Given the description of an element on the screen output the (x, y) to click on. 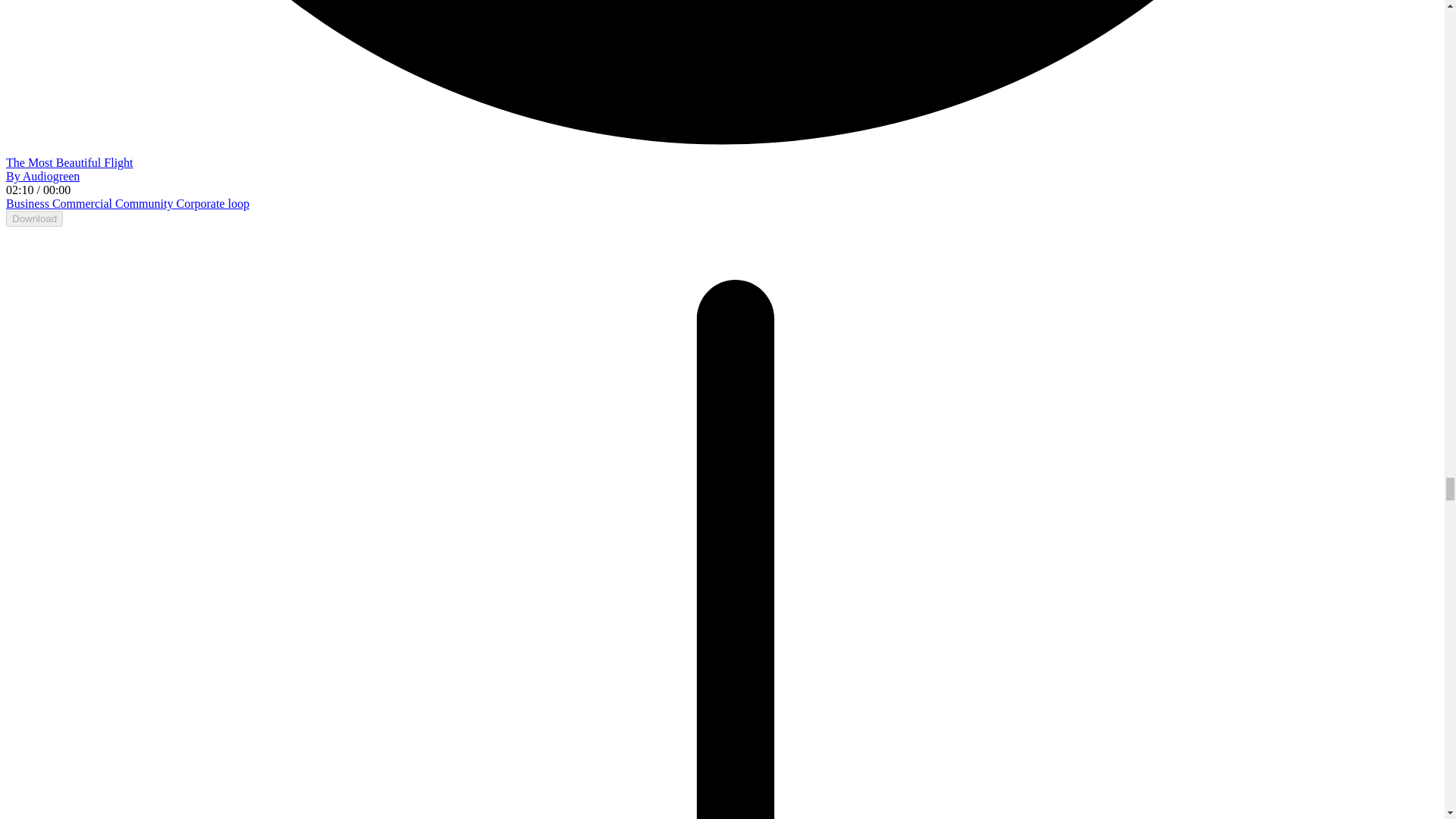
Download (33, 218)
